Given the description of an element on the screen output the (x, y) to click on. 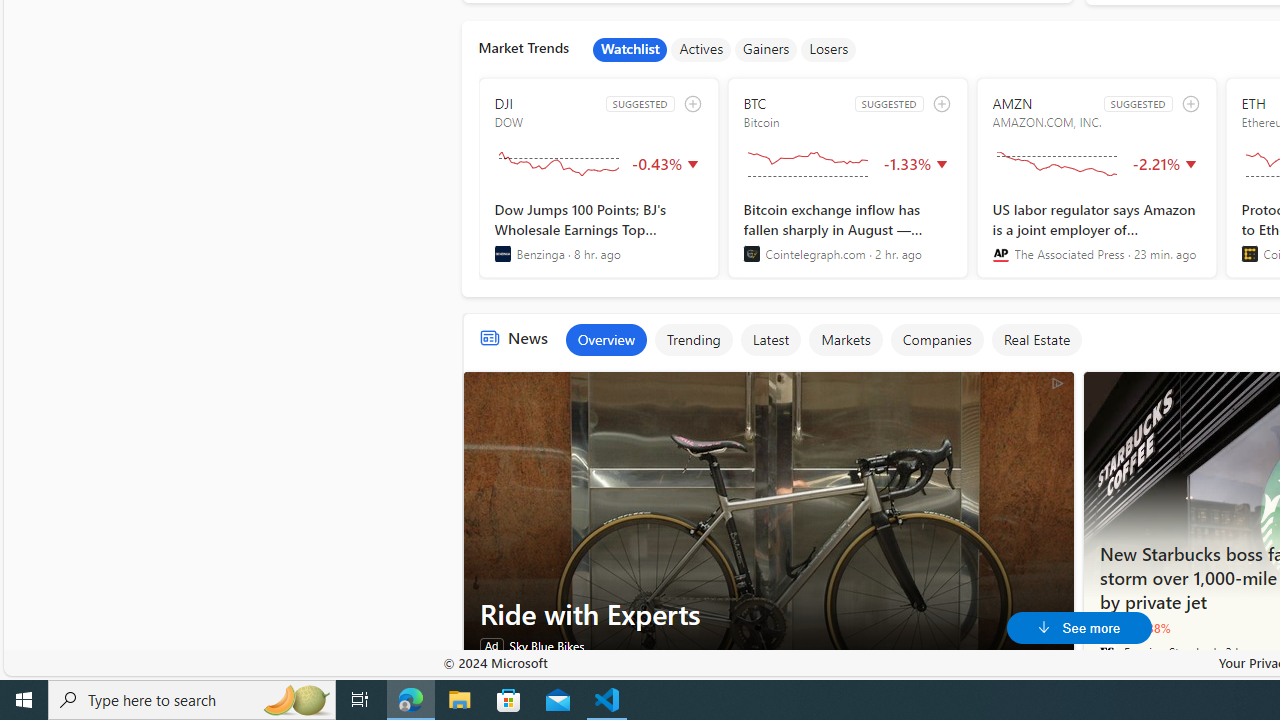
AdChoices (1056, 382)
Cointelegraph.com (751, 254)
